Given the description of an element on the screen output the (x, y) to click on. 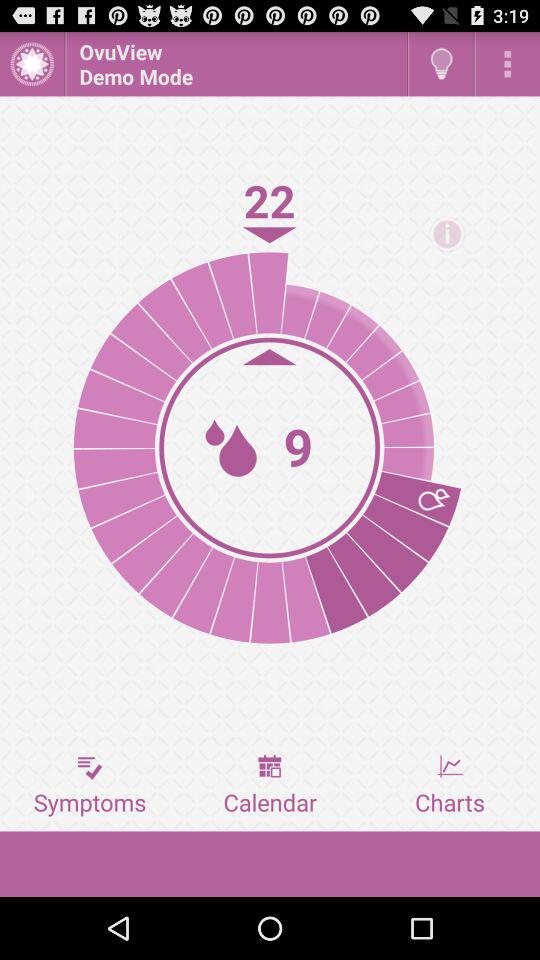
select symptoms item (90, 785)
